Given the description of an element on the screen output the (x, y) to click on. 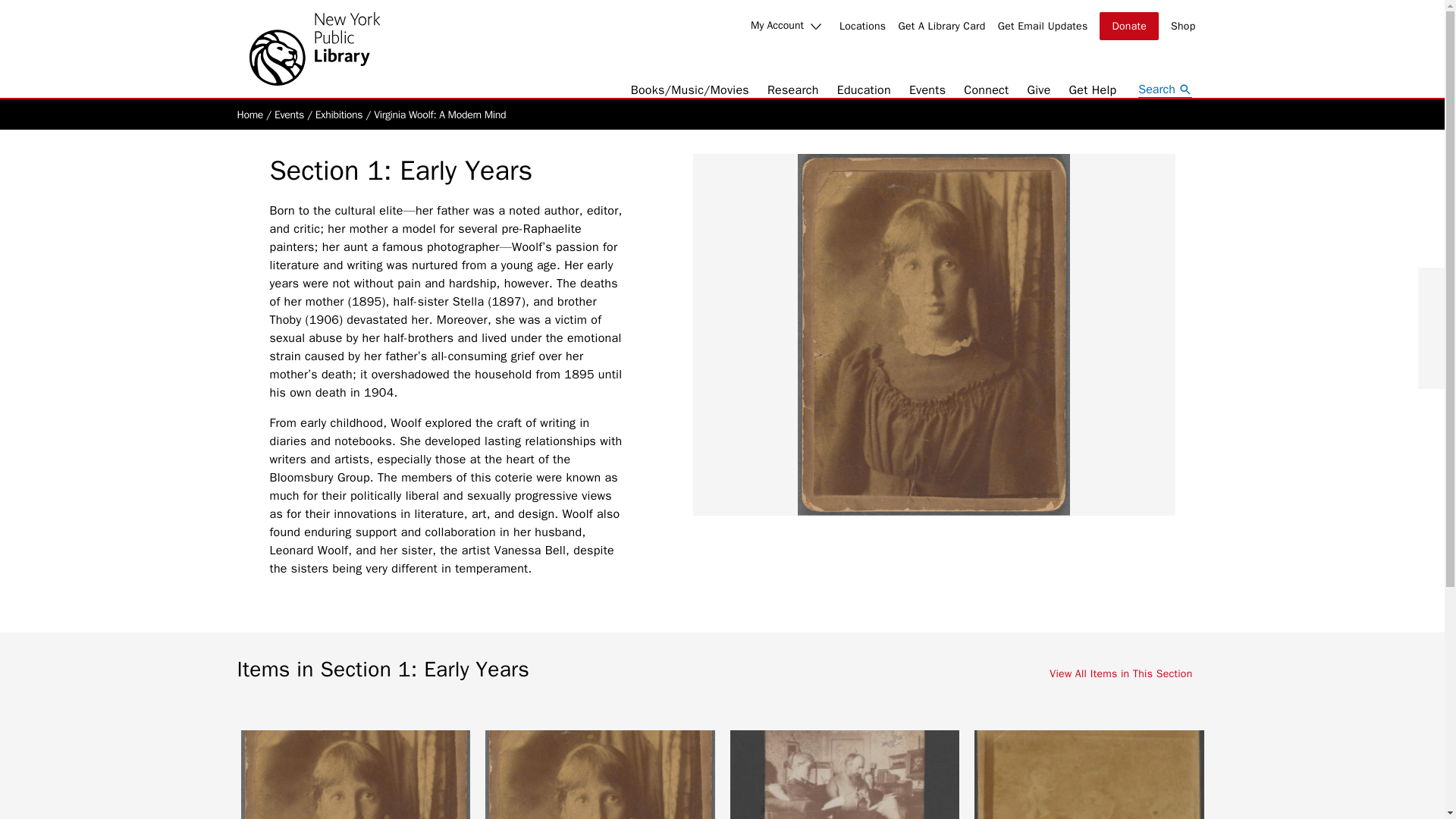
Virginia Woolf: A Modern Mind (439, 114)
Donate (1128, 26)
Give (1037, 89)
Connect (986, 89)
Get Email Updates (1042, 25)
Home (249, 114)
Locations (863, 25)
View All Items in This Section (1128, 674)
Get A Library Card (941, 25)
Exhibitions (338, 114)
